Given the description of an element on the screen output the (x, y) to click on. 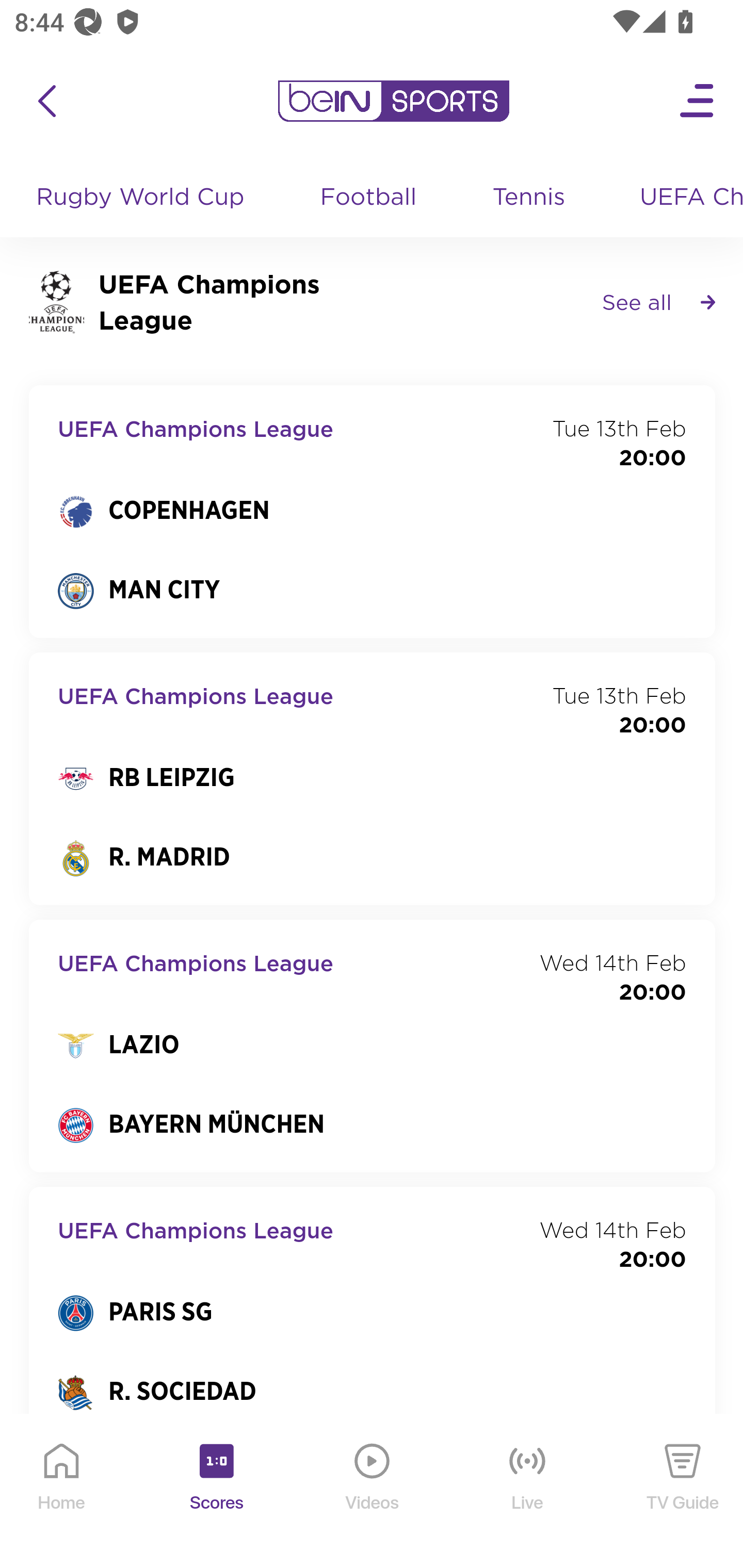
en-my?platform=mobile_android bein logo (392, 101)
icon back (46, 101)
Open Menu Icon (697, 101)
Rugby World Cup (142, 198)
Football (369, 198)
Tennis (530, 198)
UEFA Champions League (683, 198)
See all (658, 301)
Home Home Icon Home (61, 1491)
Scores Scores Icon Scores (216, 1491)
Videos Videos Icon Videos (372, 1491)
TV Guide TV Guide Icon TV Guide (682, 1491)
